Given the description of an element on the screen output the (x, y) to click on. 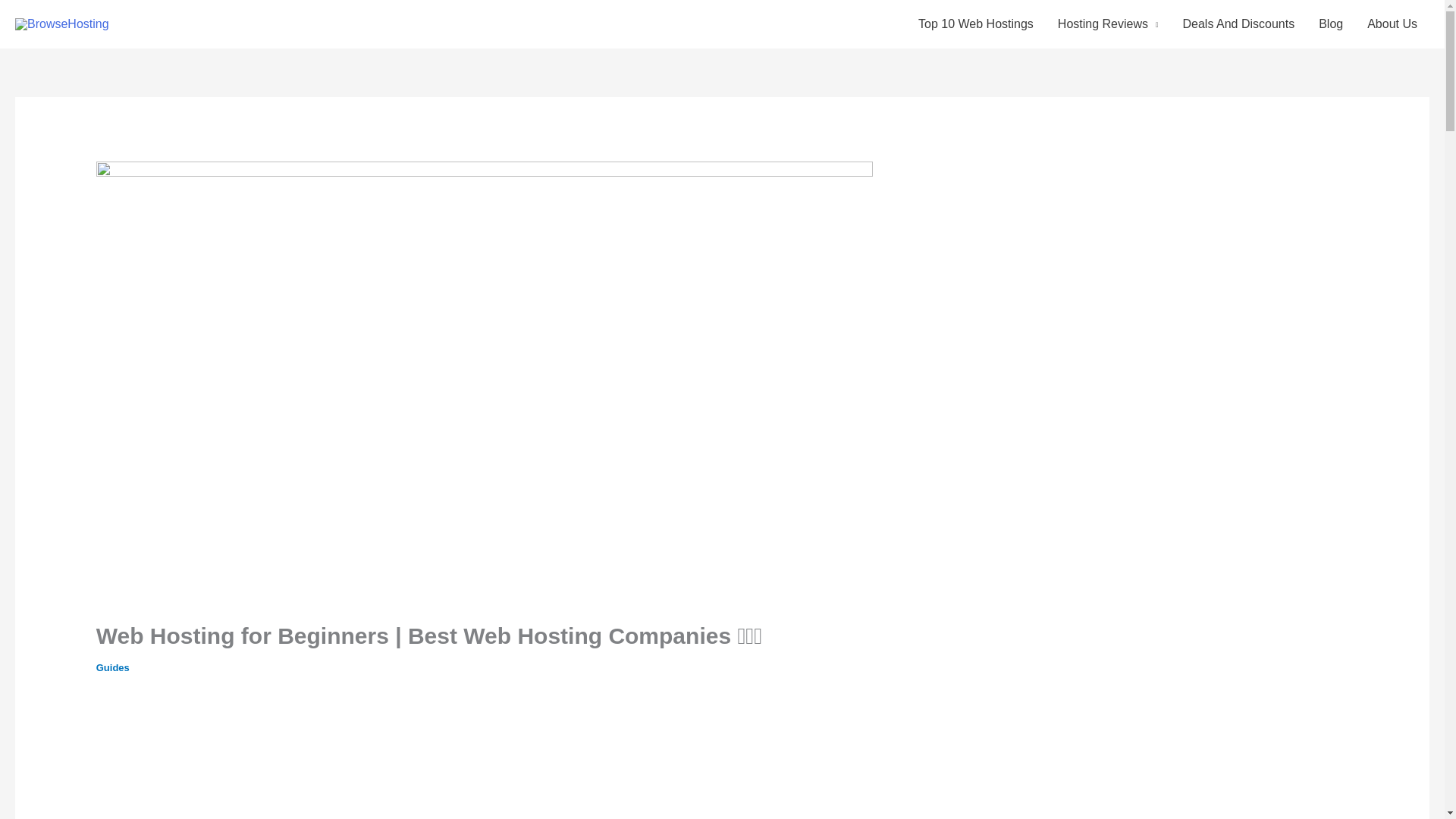
Deals And Discounts (1238, 24)
Top 10 Web Hostings (975, 24)
Blog (1330, 24)
About Us (1392, 24)
Hosting Reviews (1107, 24)
Guides (112, 667)
